Given the description of an element on the screen output the (x, y) to click on. 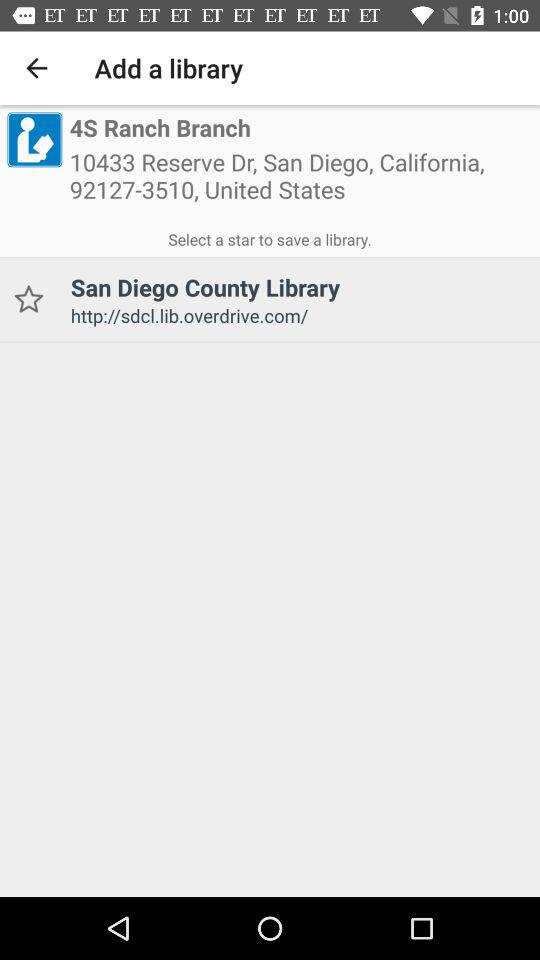
swipe to the http sdcl lib icon (298, 315)
